Given the description of an element on the screen output the (x, y) to click on. 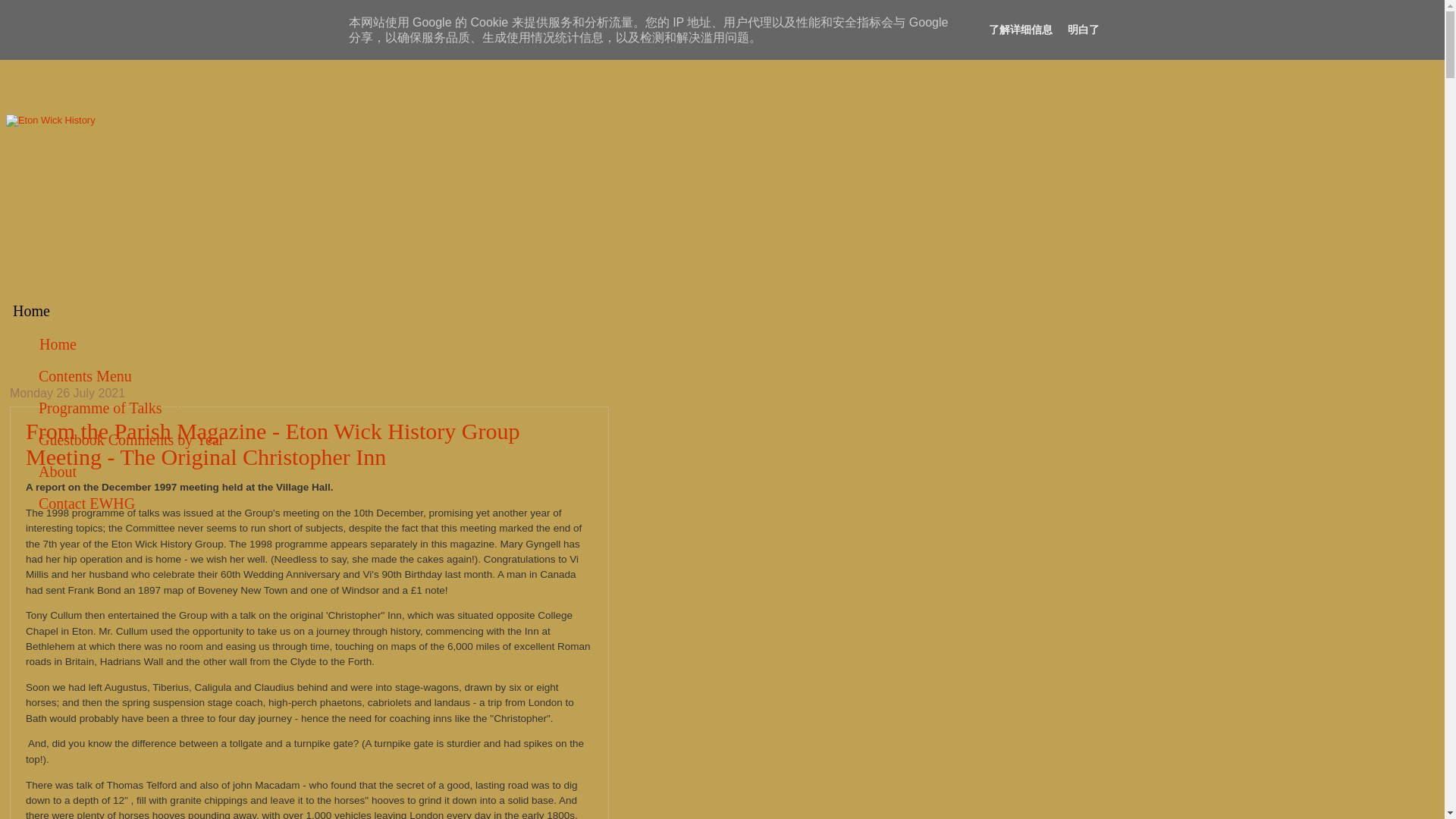
Home (58, 344)
Contents Menu (85, 376)
About (58, 471)
Guestbook Comments by Year (131, 439)
Contact EWHG (87, 503)
Programme of Talks (100, 407)
